Given the description of an element on the screen output the (x, y) to click on. 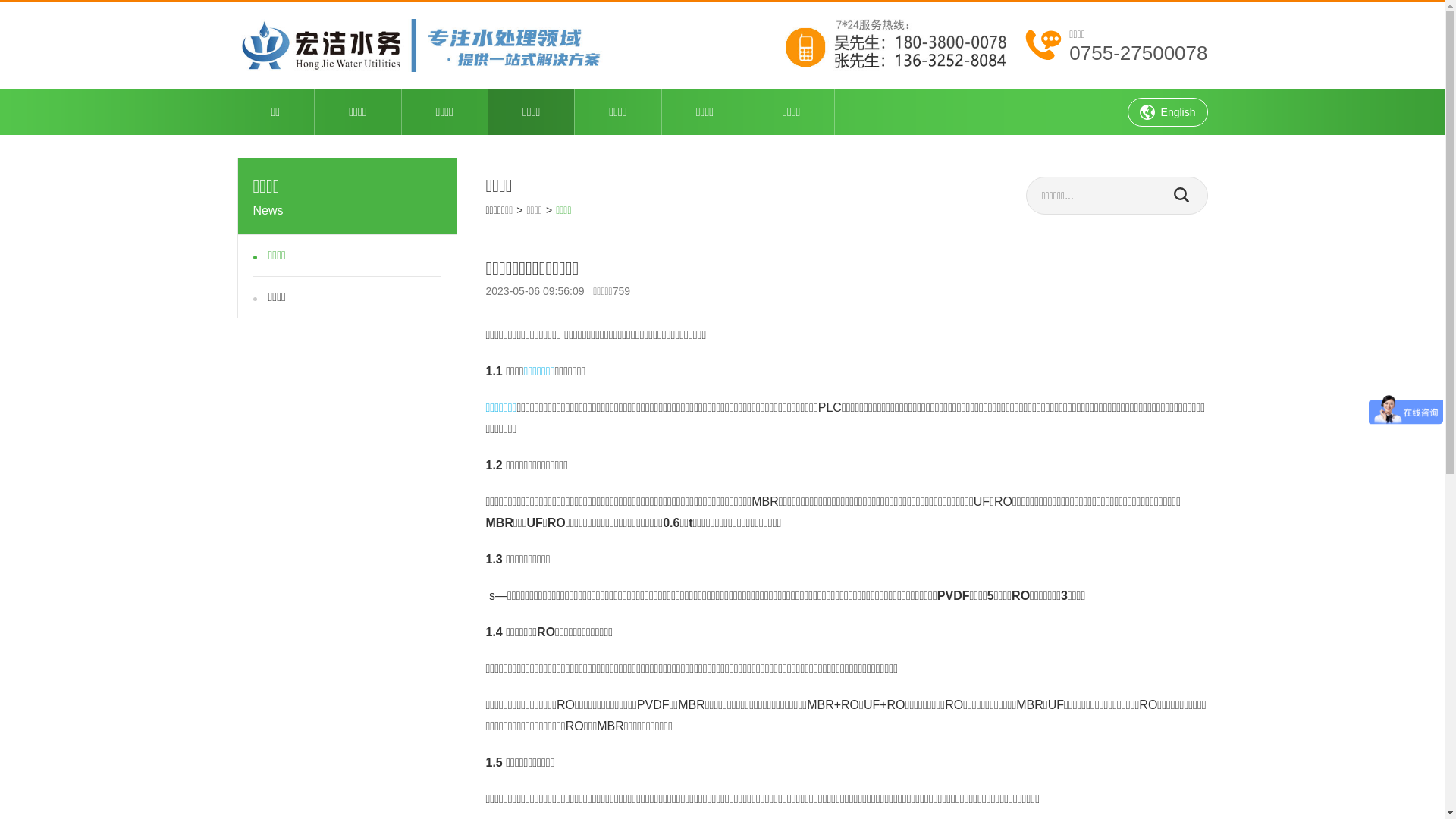
English Element type: text (1167, 111)
